Given the description of an element on the screen output the (x, y) to click on. 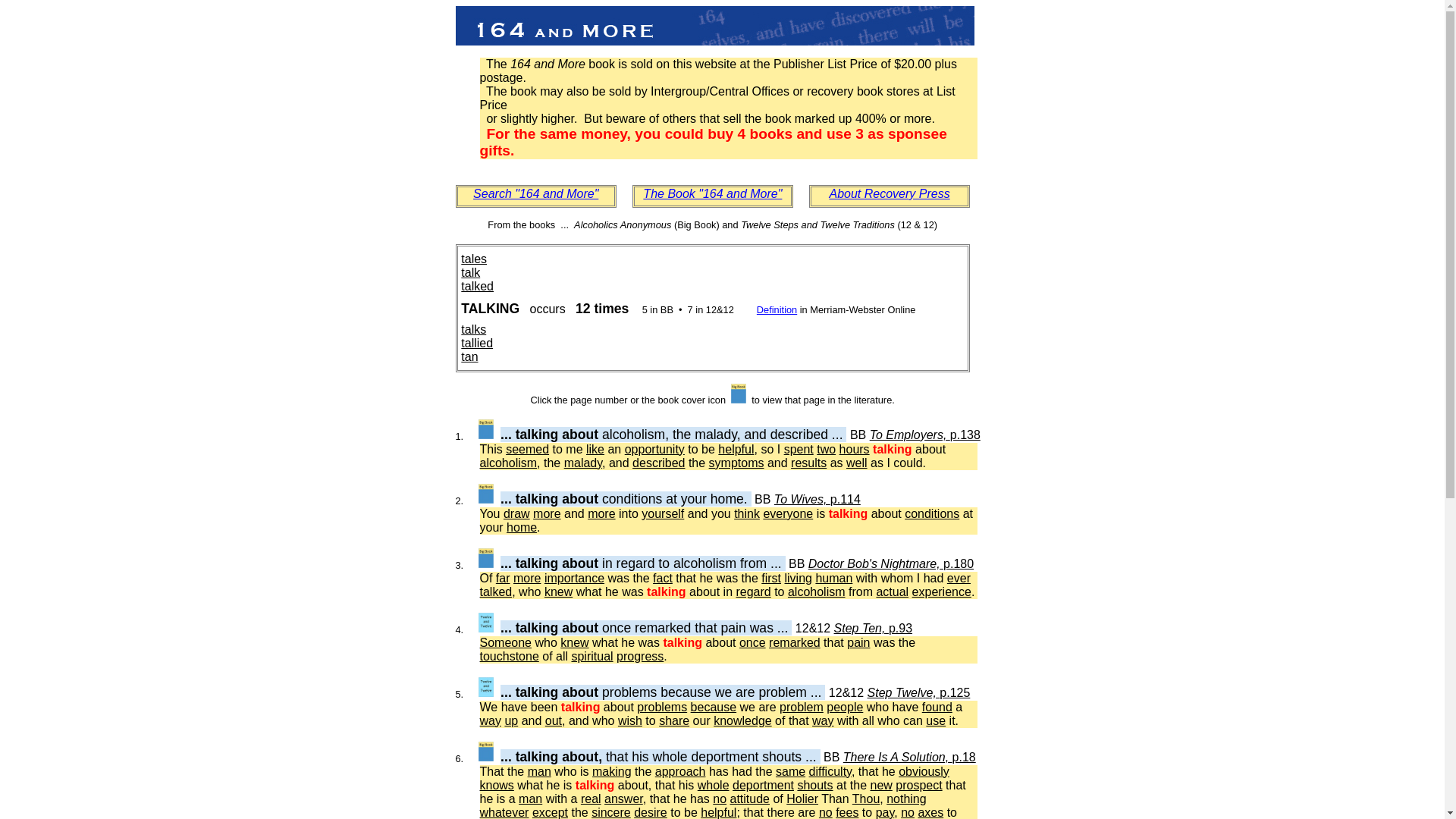
progress Element type: text (639, 655)
knew Element type: text (574, 642)
no Element type: text (719, 798)
way Element type: text (822, 720)
human Element type: text (833, 577)
once Element type: text (752, 642)
way Element type: text (489, 720)
talks Element type: text (473, 329)
regard Element type: text (752, 591)
use Element type: text (935, 720)
Holier Element type: text (802, 798)
real Element type: text (590, 798)
tallied Element type: text (476, 342)
importance Element type: text (574, 577)
everyone Element type: text (787, 513)
share Element type: text (673, 720)
View BB p.138 Element type: hover (485, 429)
remarked Element type: text (794, 642)
because Element type: text (713, 706)
more Element type: text (601, 513)
Search "164 and More" Element type: text (535, 193)
symptoms Element type: text (736, 462)
knows Element type: text (496, 784)
knowledge Element type: text (742, 720)
spiritual Element type: text (591, 655)
far Element type: text (502, 577)
two Element type: text (825, 448)
There Is A Solution, p.18 Element type: text (909, 756)
touchstone Element type: text (508, 655)
View 12&12 p.93 Element type: hover (485, 622)
Thou Element type: text (865, 798)
knew Element type: text (558, 591)
same Element type: text (790, 771)
draw Element type: text (516, 513)
man Element type: text (530, 798)
people Element type: text (844, 706)
difficulty Element type: text (830, 771)
helpful Element type: text (735, 448)
more Element type: text (526, 577)
Step Ten, p.93 Element type: text (873, 627)
The Book "164 and More" Element type: text (712, 193)
up Element type: text (510, 720)
more Element type: text (546, 513)
Doctor Bob's Nightmare, p.180 Element type: text (890, 563)
ever Element type: text (958, 577)
nothing Element type: text (906, 798)
attitude Element type: text (749, 798)
found Element type: text (937, 706)
Step Twelve, p.125 Element type: text (918, 692)
seemed Element type: text (527, 448)
whole Element type: text (713, 784)
To Employers, p.138 Element type: text (924, 434)
making Element type: text (611, 771)
answer Element type: text (623, 798)
first Element type: text (771, 577)
yourself Element type: text (662, 513)
About Recovery Press Element type: text (888, 193)
opportunity Element type: text (654, 448)
man Element type: text (539, 771)
hours Element type: text (854, 448)
out Element type: text (553, 720)
Definition Element type: text (776, 309)
obviously Element type: text (923, 771)
talk Element type: text (470, 272)
experience Element type: text (941, 591)
prospect Element type: text (918, 784)
home Element type: text (521, 526)
fact Element type: text (662, 577)
approach Element type: text (680, 771)
talked Element type: text (495, 591)
problems Element type: text (662, 706)
alcoholism Element type: text (507, 462)
described Element type: text (658, 462)
View BB p.180 Element type: hover (485, 557)
living Element type: text (797, 577)
like Element type: text (595, 448)
View 12&12 p.125 Element type: hover (485, 686)
To Wives, p.114 Element type: text (817, 498)
actual Element type: text (891, 591)
spent Element type: text (798, 448)
wish Element type: text (630, 720)
results Element type: text (808, 462)
tales Element type: text (473, 258)
new Element type: text (880, 784)
deportment Element type: text (762, 784)
pain Element type: text (858, 642)
tan Element type: text (469, 356)
talked Element type: text (477, 285)
Someone Element type: text (505, 642)
malady Element type: text (583, 462)
think Element type: text (746, 513)
View BB p.18 Element type: hover (485, 751)
problem Element type: text (801, 706)
shouts Element type: text (814, 784)
conditions Element type: text (931, 513)
View BB p.114 Element type: hover (485, 493)
well Element type: text (856, 462)
alcoholism Element type: text (816, 591)
